Given the description of an element on the screen output the (x, y) to click on. 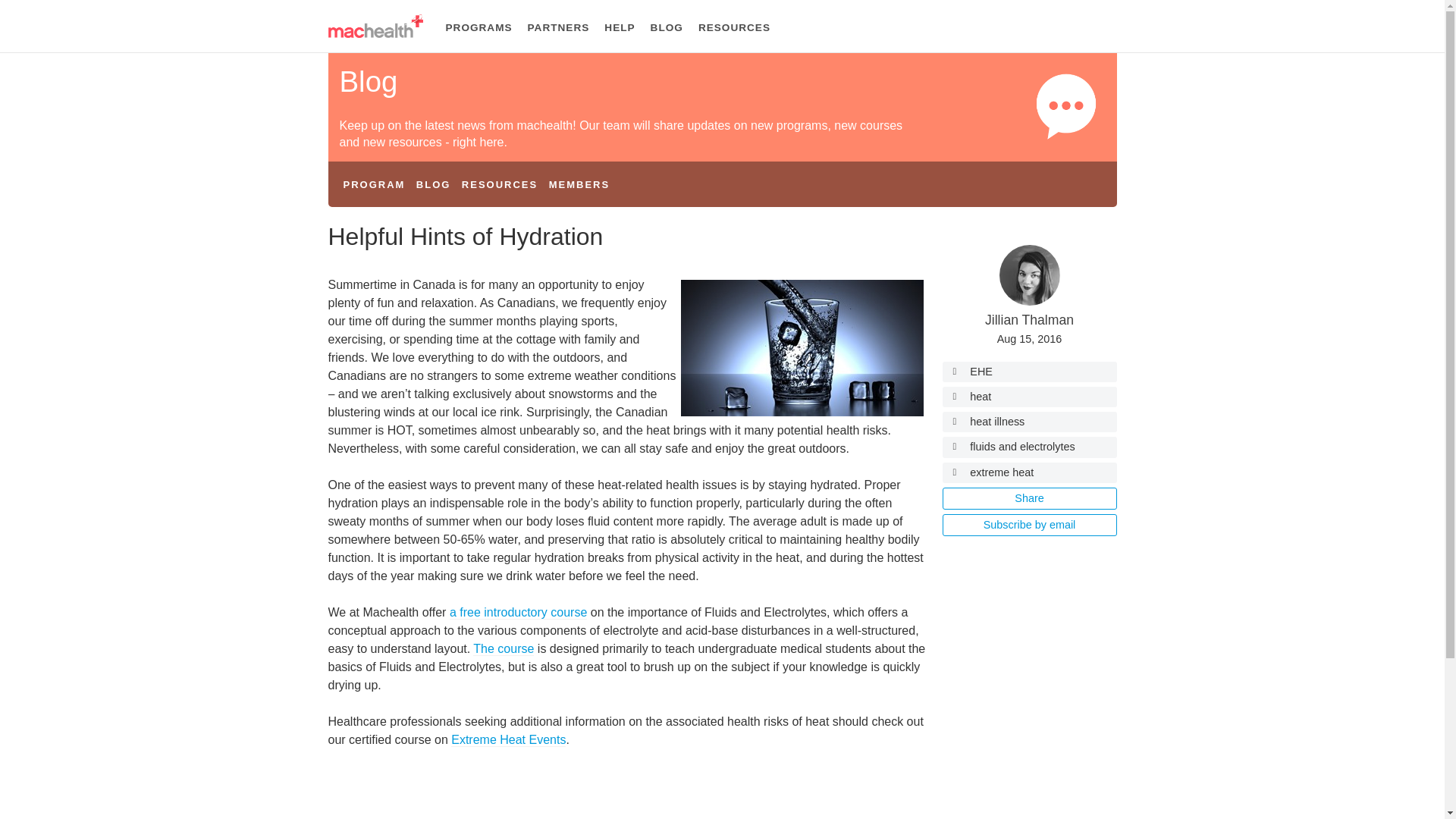
Share (1029, 498)
heat illness (1029, 421)
EHE (1029, 371)
extreme heat (1029, 472)
heat (1029, 396)
Jillian Thalman (1029, 319)
MEMBERS (579, 184)
PARTNERS (557, 28)
Extreme Heat Events (508, 739)
RESOURCES (733, 28)
fluids and electrolytes (1029, 446)
RESOURCES (499, 184)
BLOG (433, 184)
The course (503, 649)
PROGRAMS (478, 28)
